Given the description of an element on the screen output the (x, y) to click on. 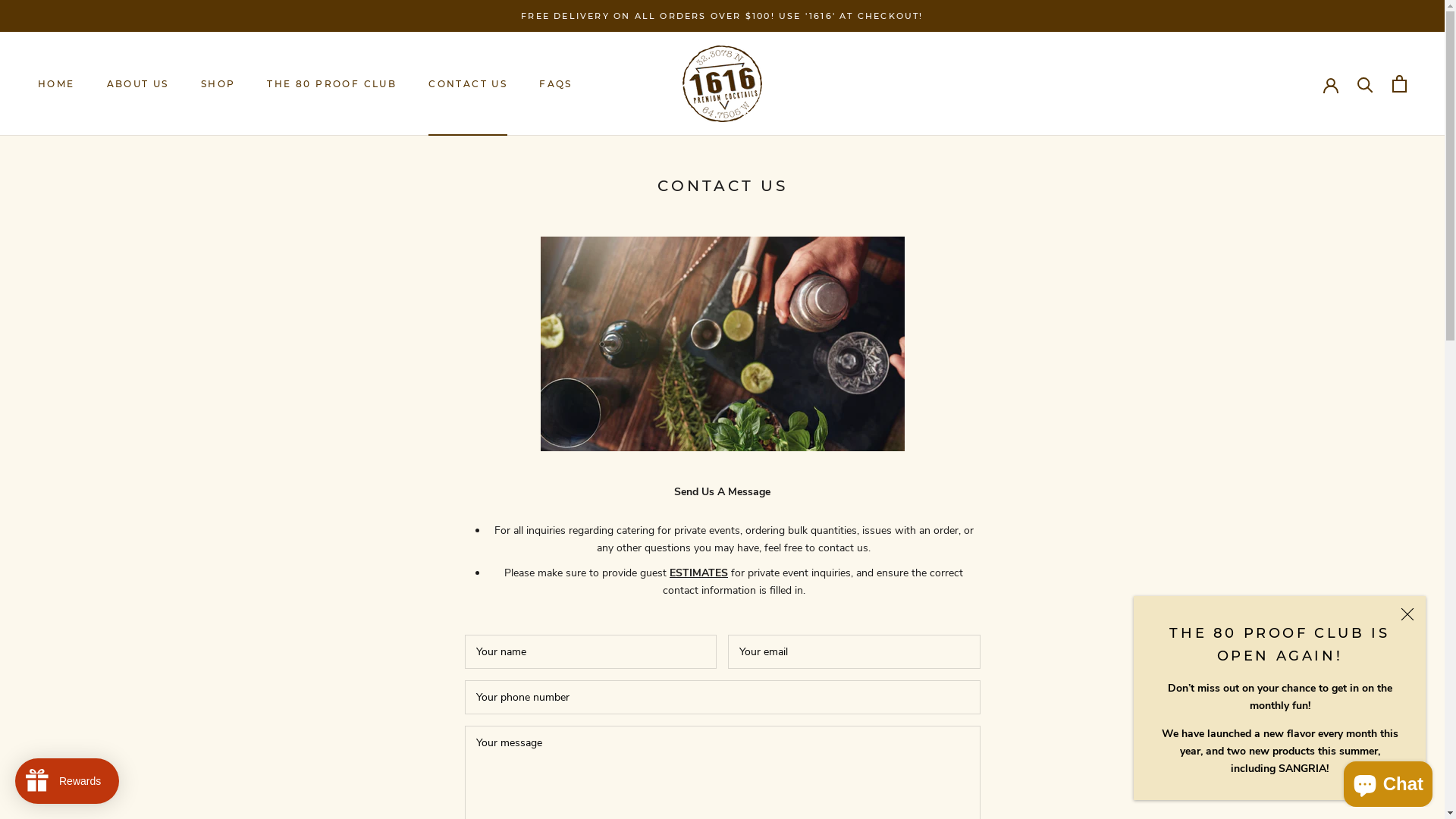
CONTACT US
CONTACT US Element type: text (467, 83)
FAQS
FAQS Element type: text (555, 83)
Shopify online store chat Element type: hover (1388, 780)
SHOP
SHOP Element type: text (217, 83)
ABOUT US
ABOUT US Element type: text (137, 83)
THE 80 PROOF CLUB
THE 80 PROOF CLUB Element type: text (331, 83)
HOME
HOME Element type: text (56, 83)
